Given the description of an element on the screen output the (x, y) to click on. 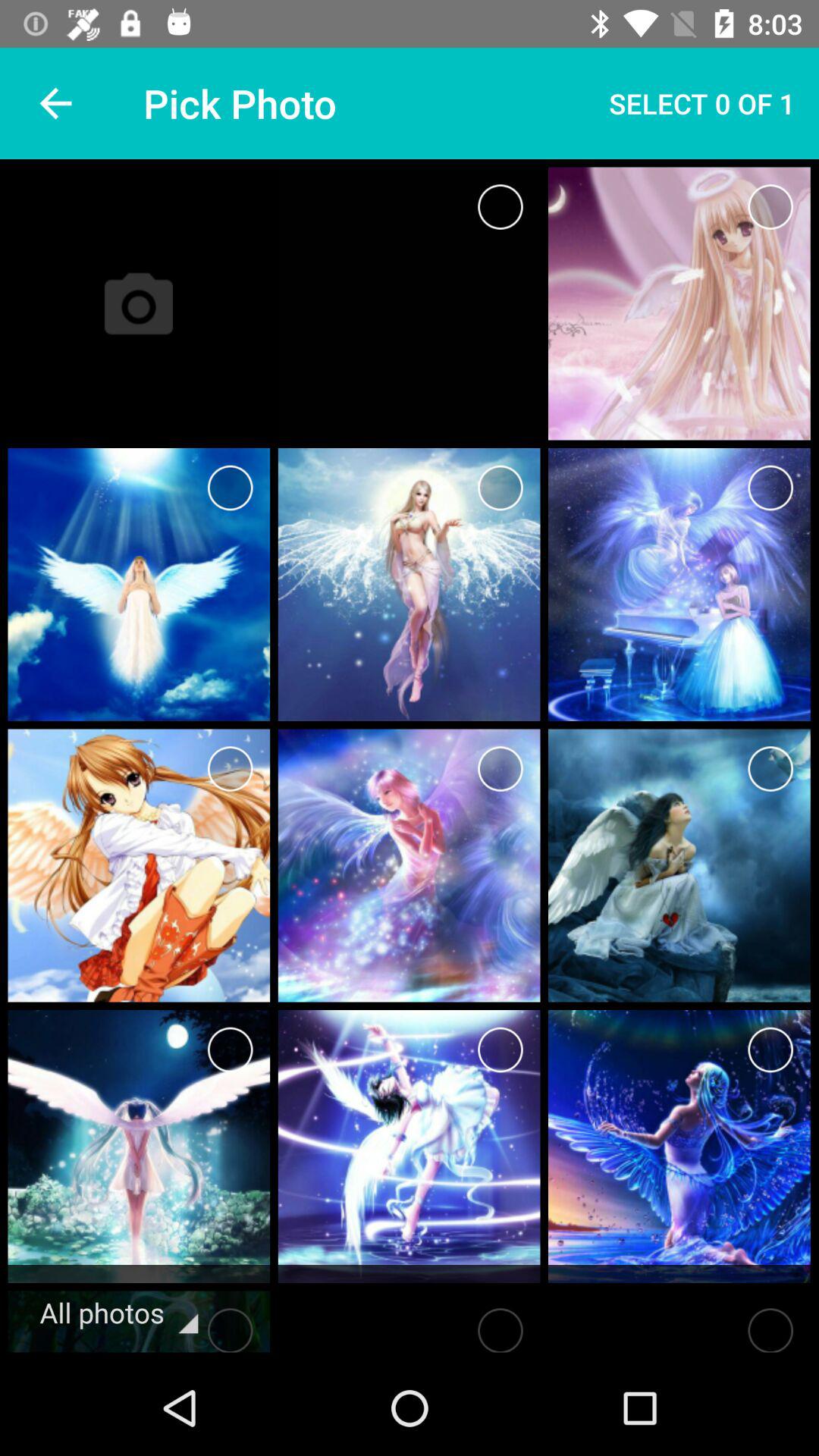
choose image (230, 487)
